Given the description of an element on the screen output the (x, y) to click on. 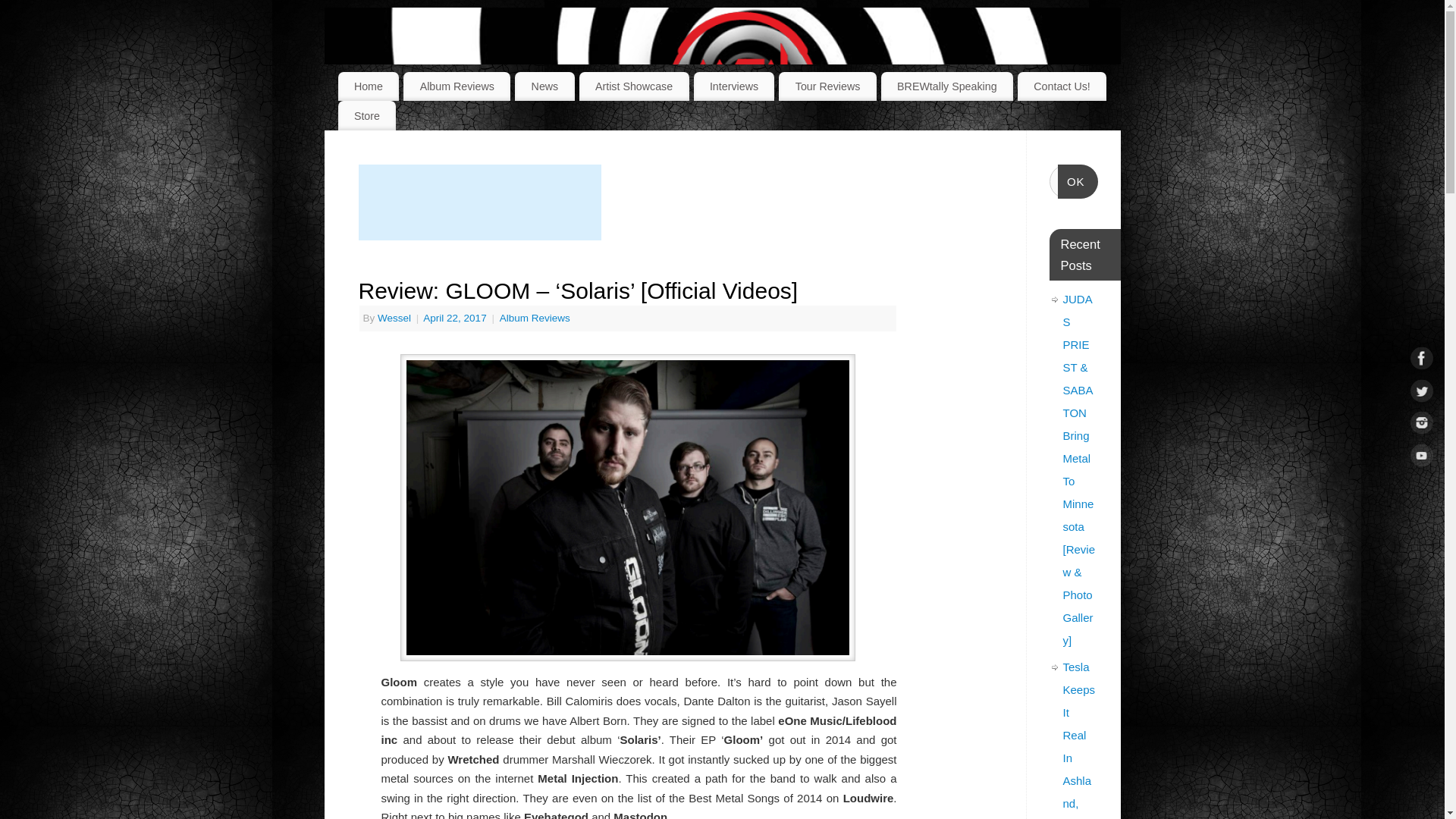
Home (367, 86)
Store (366, 114)
April 22, 2017 (456, 317)
Tour Reviews (827, 86)
BREWtally Speaking (946, 86)
Album Reviews (457, 86)
News (544, 86)
Metal Nexus (741, 82)
Artist Showcase (633, 86)
Album Reviews (534, 317)
